Given the description of an element on the screen output the (x, y) to click on. 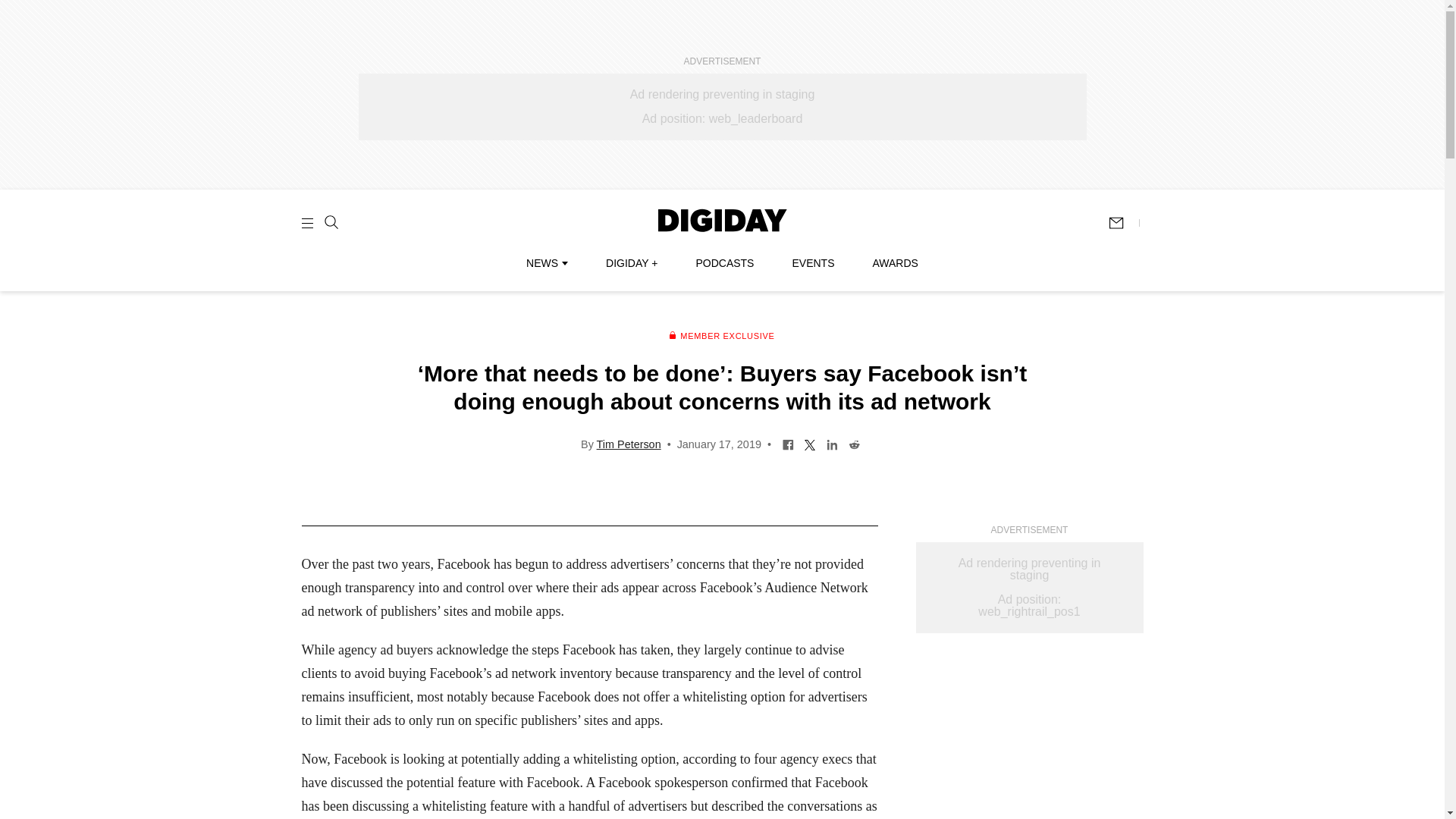
Share on LinkedIn (831, 443)
Share on Twitter (809, 443)
EVENTS (813, 262)
PODCASTS (725, 262)
Share on Reddit (853, 443)
NEWS (546, 262)
AWARDS (894, 262)
Subscribe (1123, 223)
Share on Facebook (787, 443)
